Given the description of an element on the screen output the (x, y) to click on. 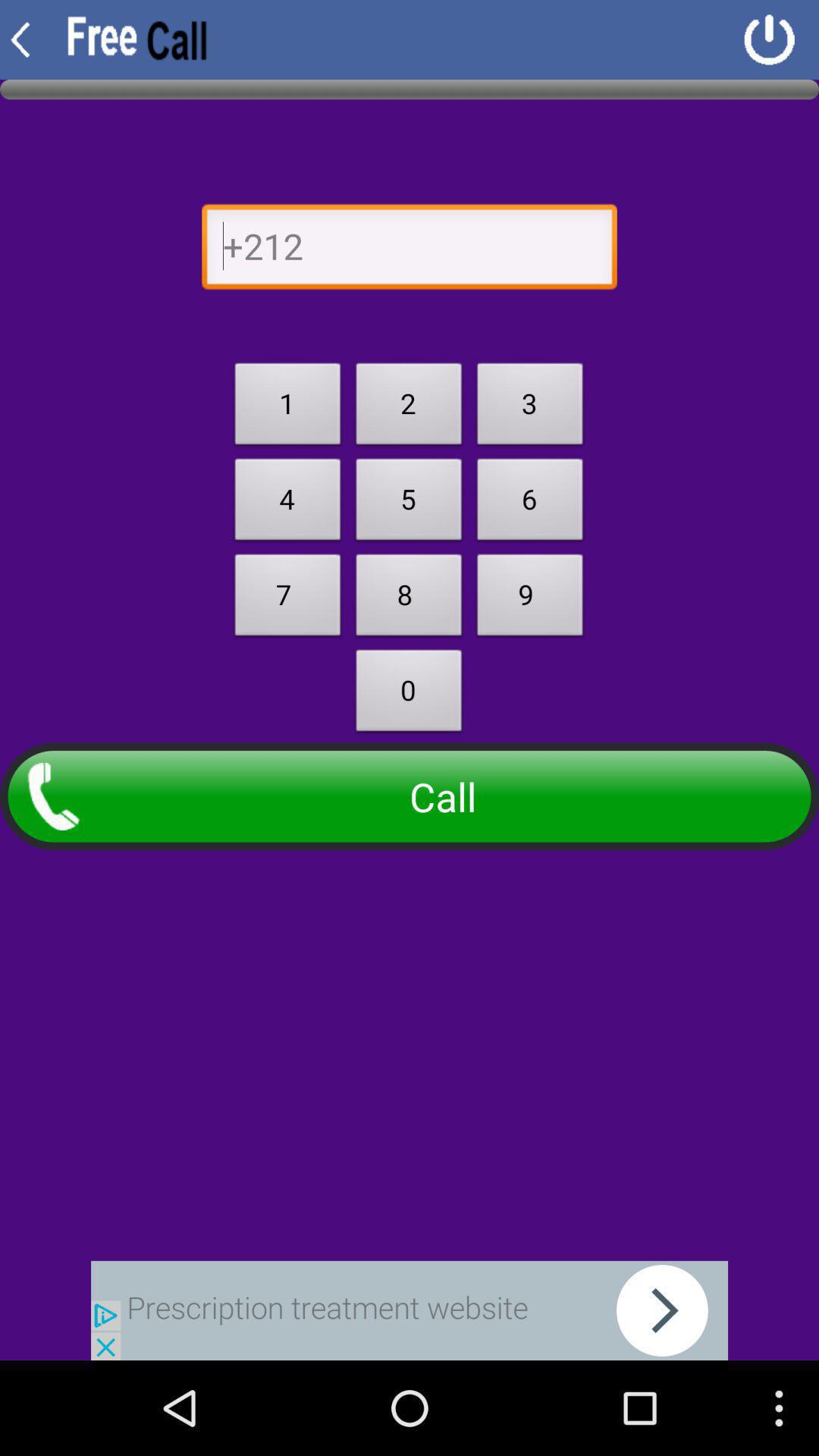
number input text box (409, 250)
